Given the description of an element on the screen output the (x, y) to click on. 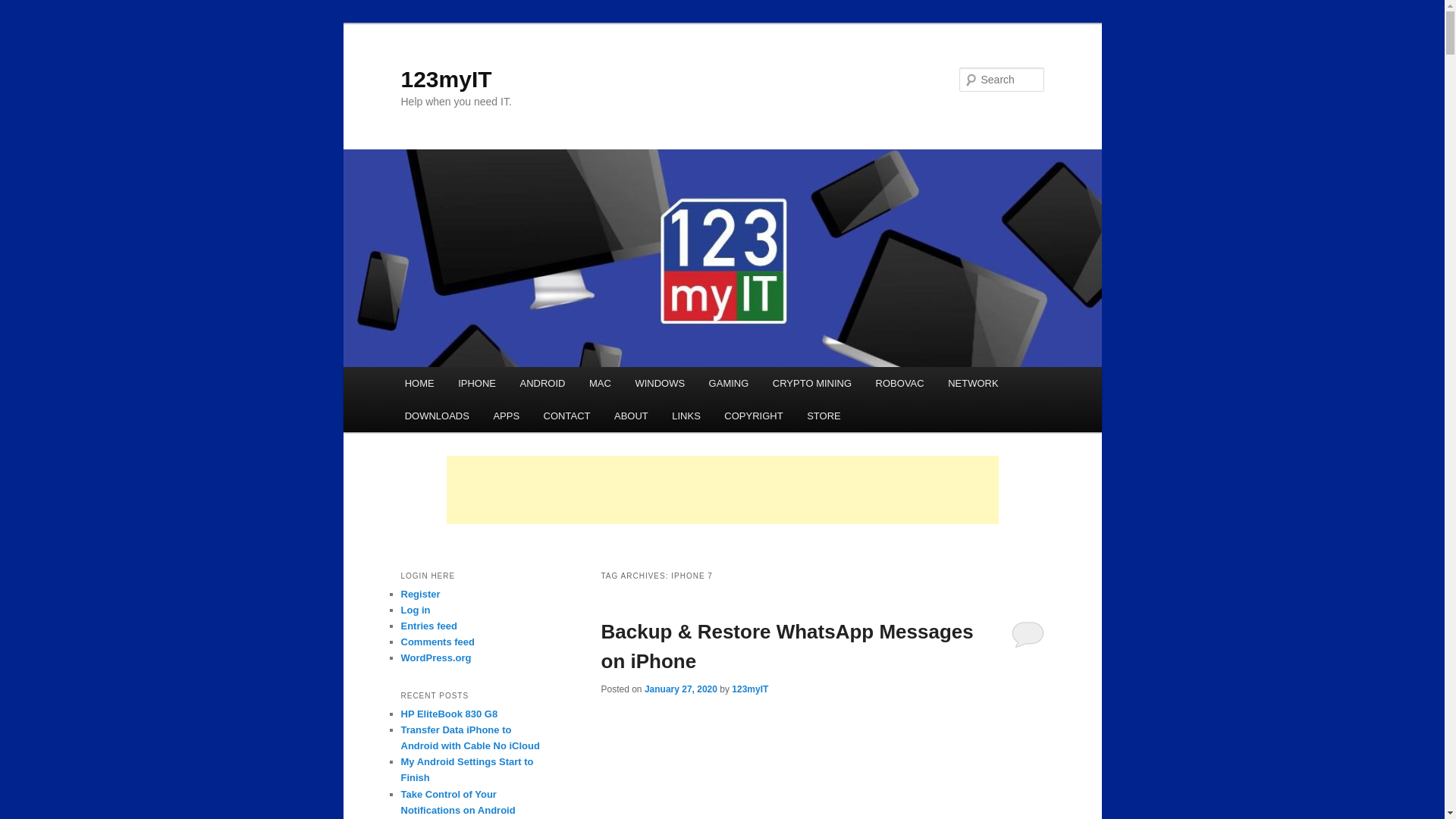
123myIT (446, 78)
WINDOWS (660, 382)
ROBOVAC (899, 382)
ABOUT (630, 415)
COPYRIGHT (753, 415)
MAC (599, 382)
DOWNLOADS (437, 415)
Crypto Mining Category for all Crypto Mining posts. (811, 382)
NETWORK (973, 382)
GAMING (728, 382)
CRYPTO MINING (811, 382)
HOME (419, 382)
ANDROID (542, 382)
IPHONE (475, 382)
9:37 am (681, 688)
